Given the description of an element on the screen output the (x, y) to click on. 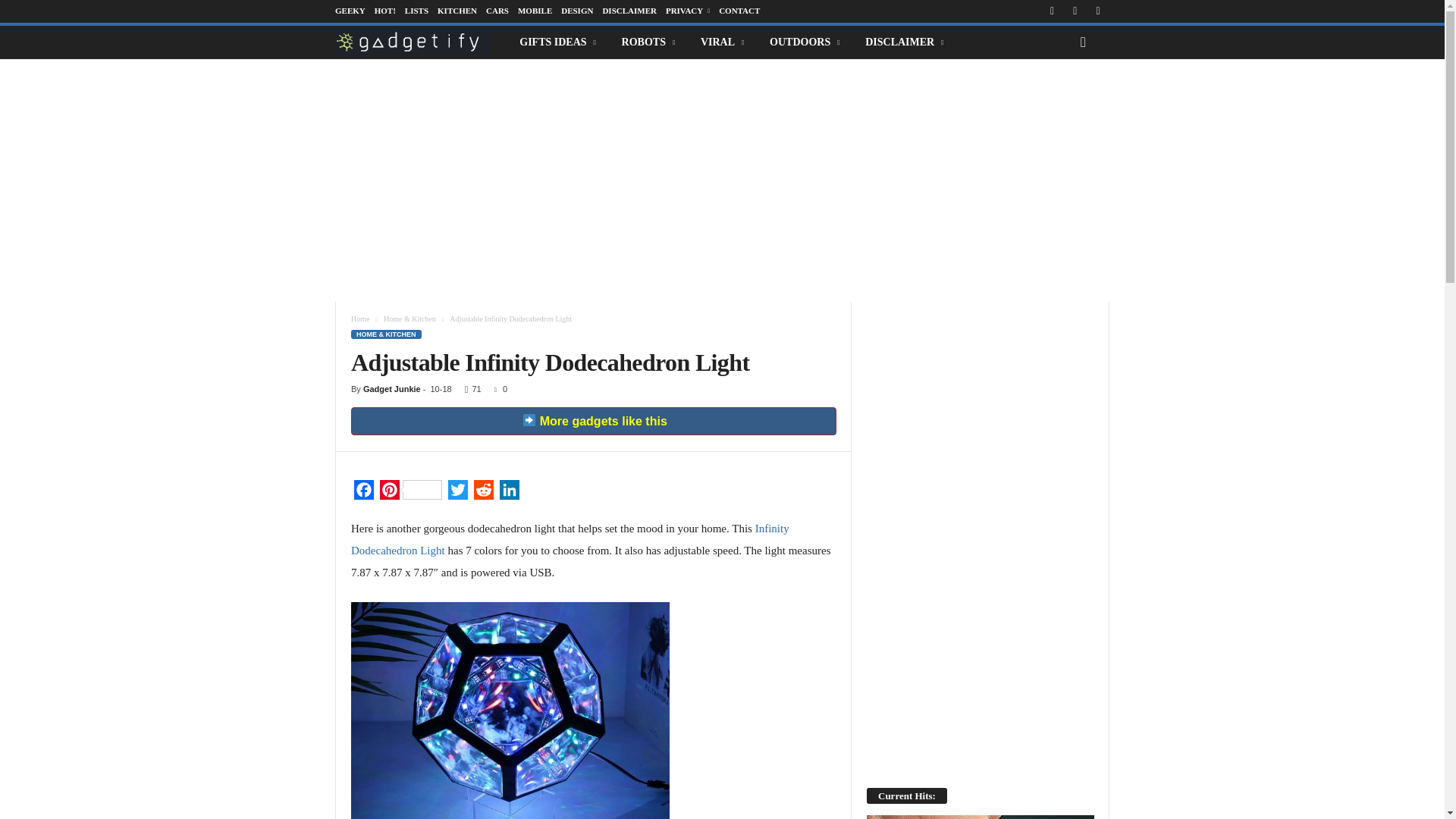
LISTS (416, 10)
HOT! (385, 10)
GEEKY (349, 10)
